Given the description of an element on the screen output the (x, y) to click on. 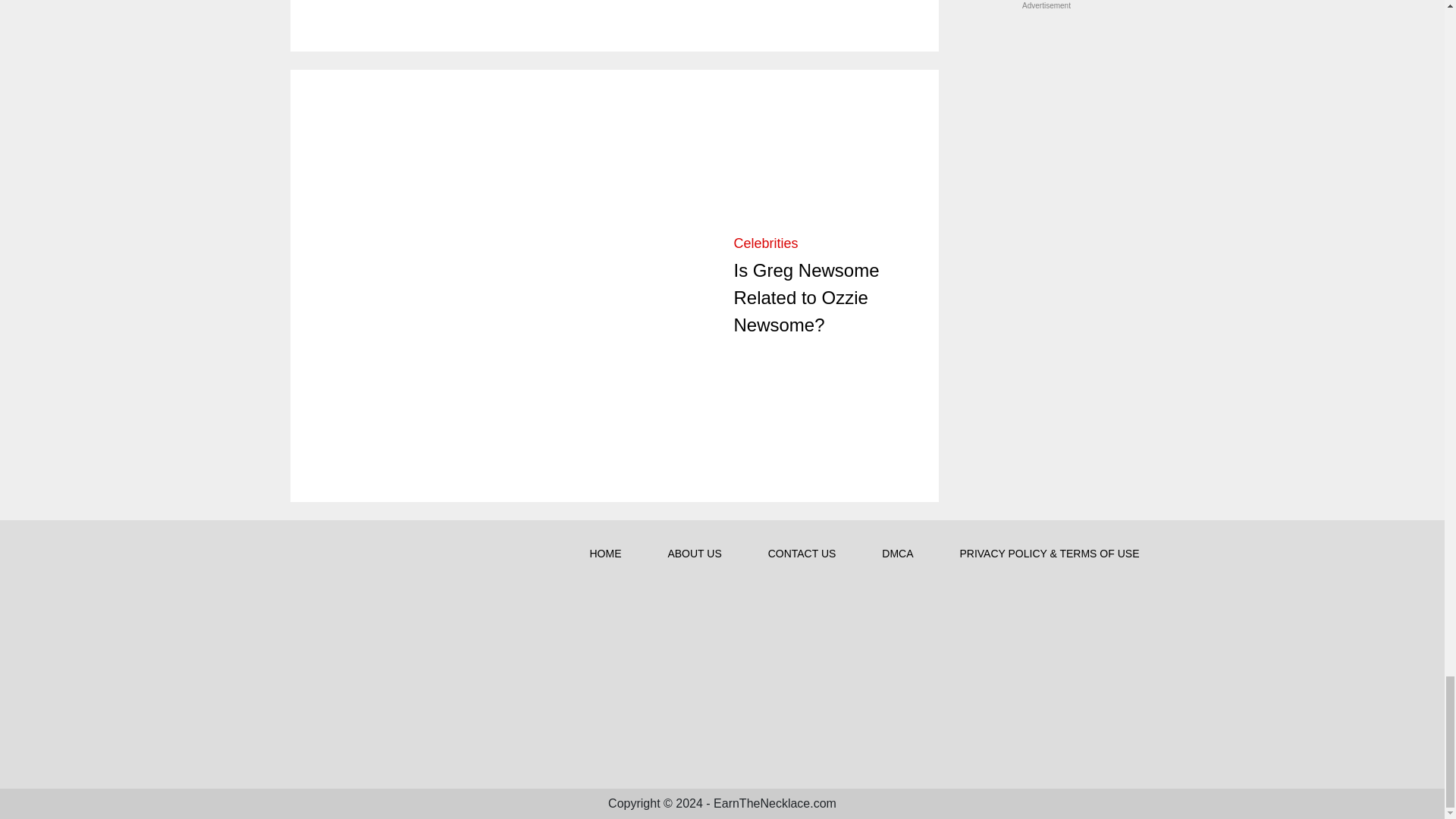
Category Name (765, 242)
